Given the description of an element on the screen output the (x, y) to click on. 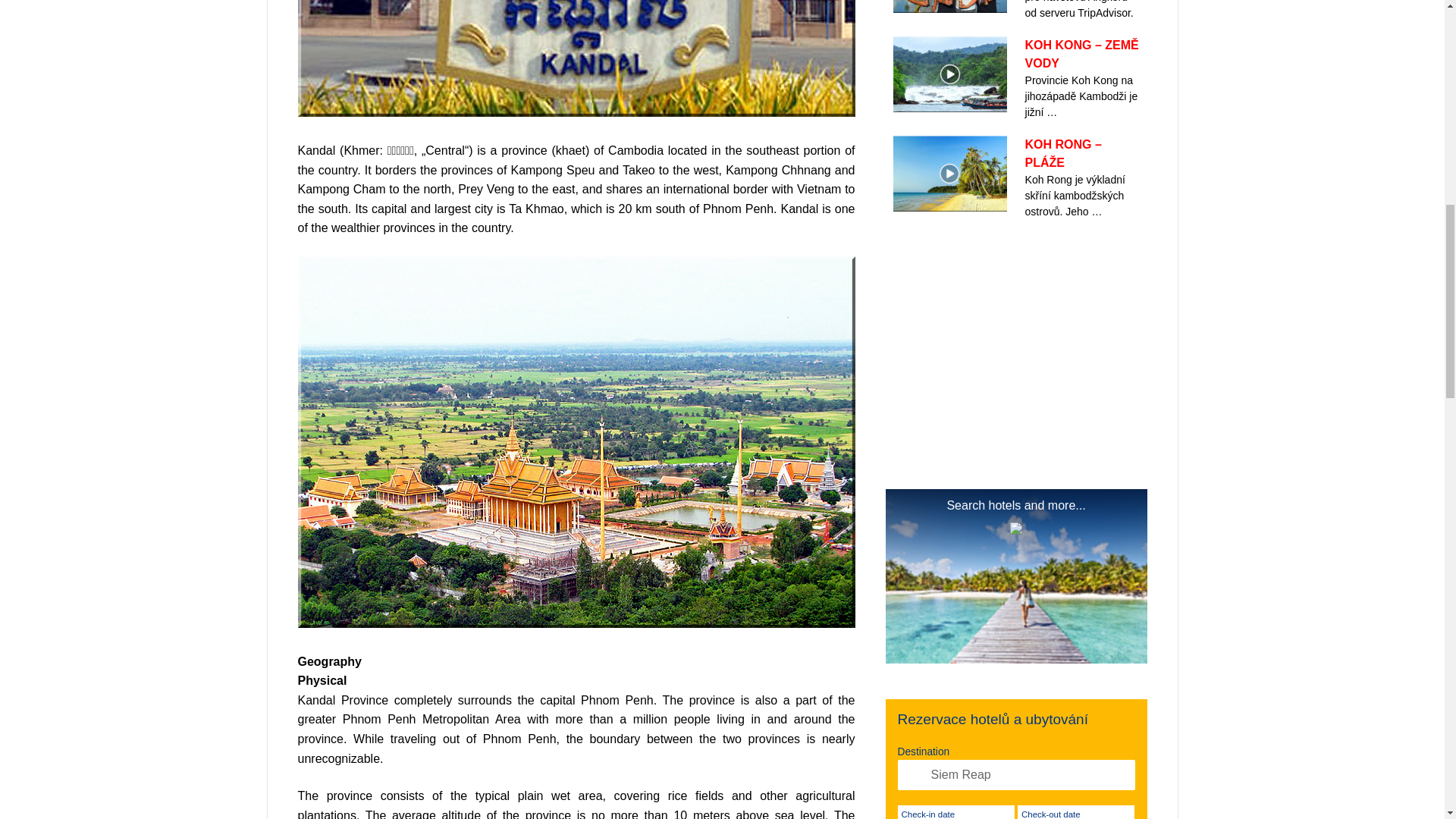
Siem Reap (1016, 775)
Advertisement (1016, 336)
Search hotels and more... (1016, 578)
